Given the description of an element on the screen output the (x, y) to click on. 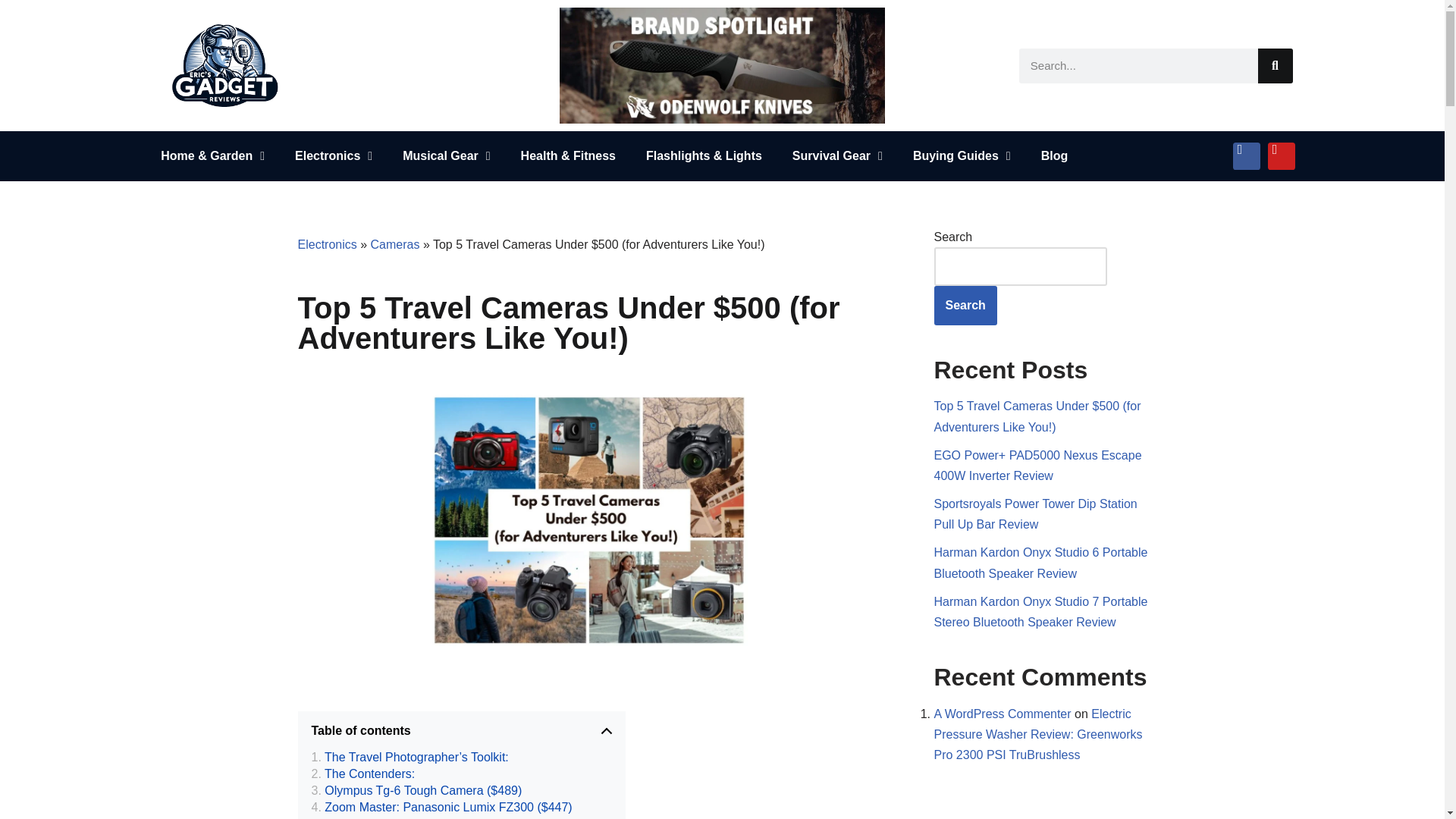
Electronics (333, 155)
Blog (1054, 155)
The Contenders: (362, 773)
Musical Gear (446, 155)
Buying Guides (962, 155)
Survival Gear (837, 155)
Skip to content (11, 31)
